Given the description of an element on the screen output the (x, y) to click on. 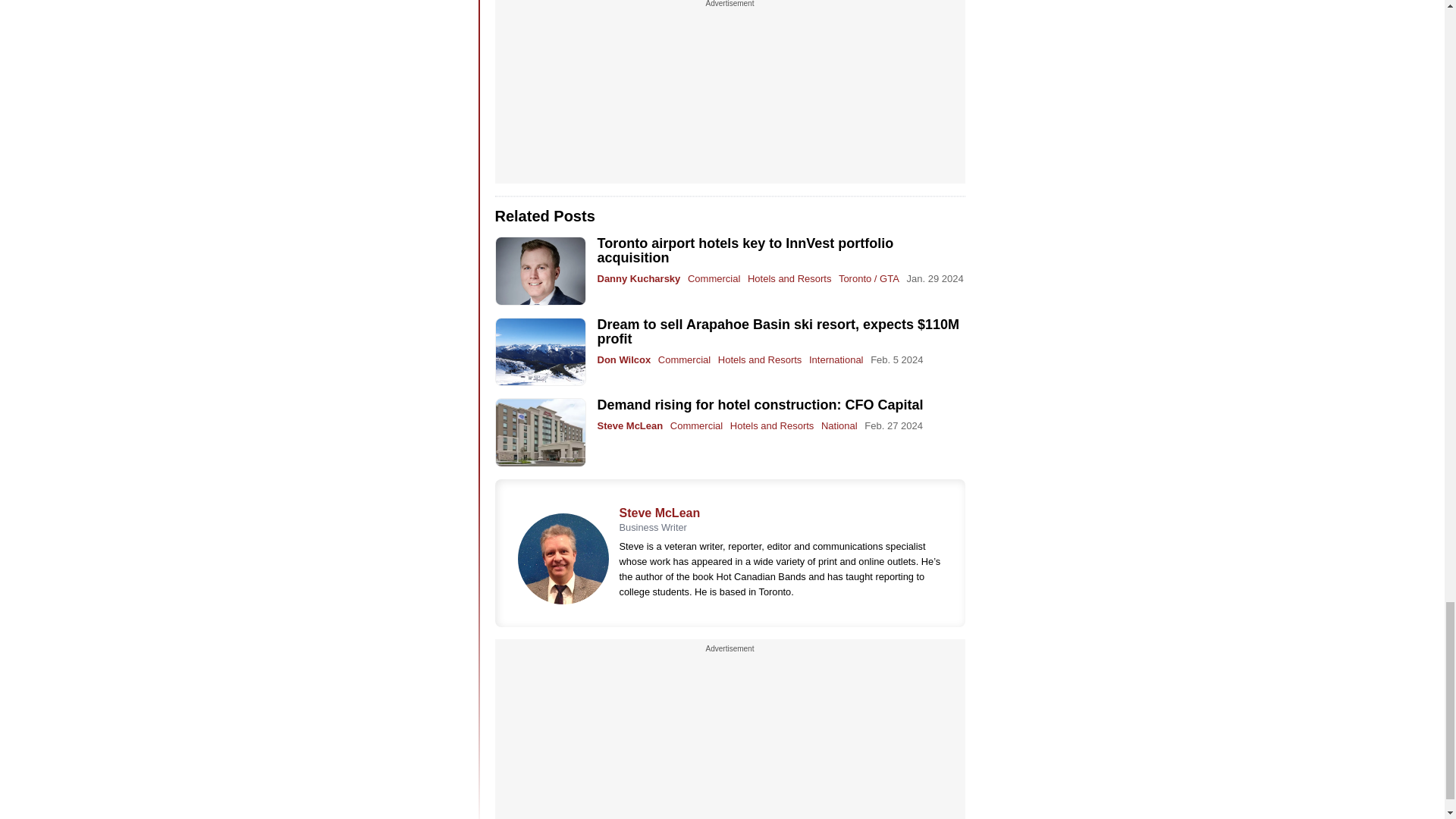
Toronto airport hotels key to InnVest portfolio acquisition (540, 270)
Toronto airport hotels key to InnVest portfolio acquisition (744, 250)
Demand rising for hotel construction: CFO Capital (540, 432)
Demand rising for hotel construction: CFO Capital (759, 404)
